Given the description of an element on the screen output the (x, y) to click on. 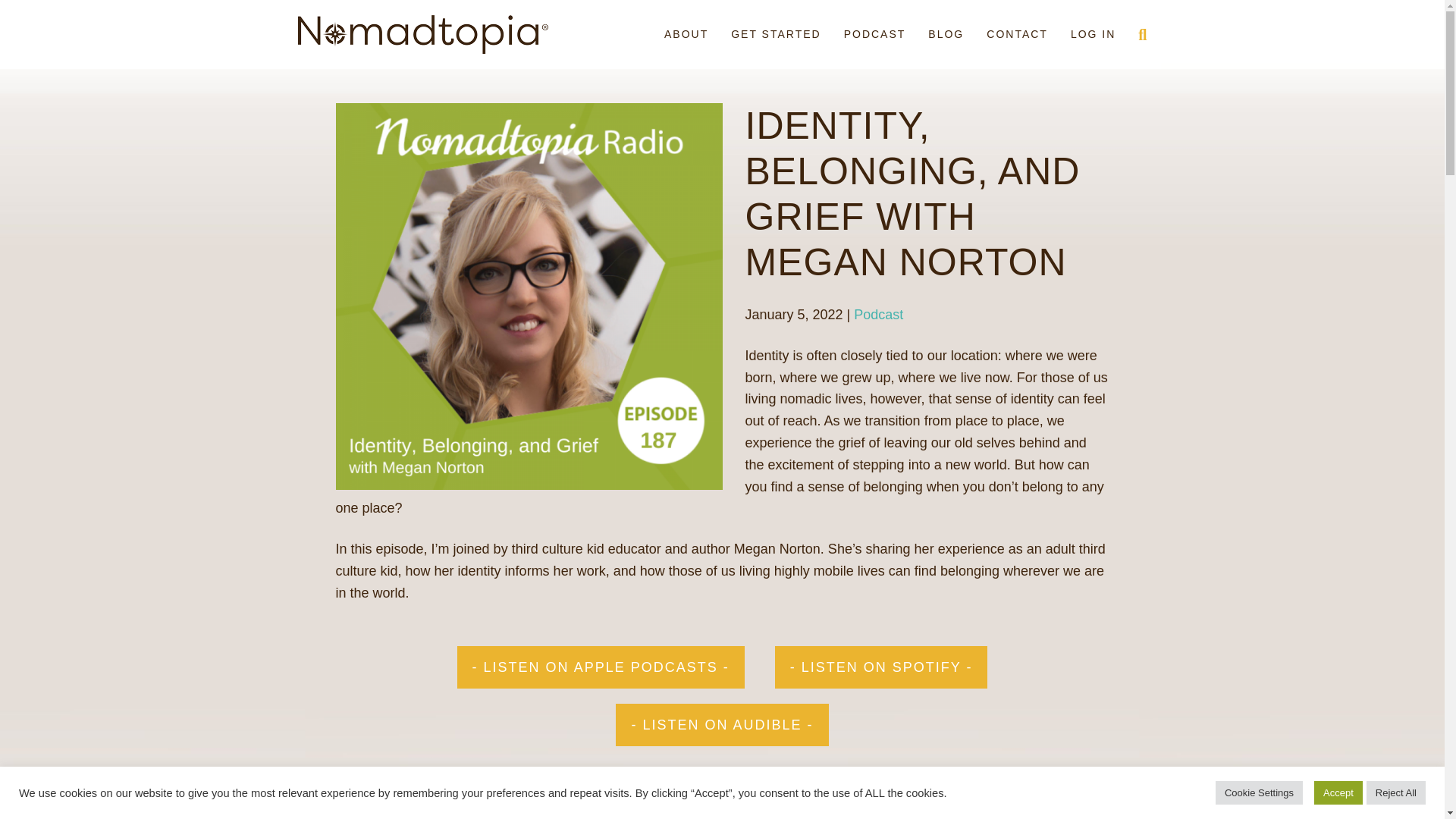
- LISTEN ON AUDIBLE - (721, 724)
CONTACT (1017, 34)
- LISTEN ON APPLE PODCASTS - (600, 667)
Podcast (877, 314)
ABOUT (685, 34)
PODCAST (874, 34)
BLOG (946, 34)
LOG IN (1092, 34)
GET STARTED (775, 34)
- LISTEN ON SPOTIFY - (881, 667)
Libsyn Player (721, 805)
